Given the description of an element on the screen output the (x, y) to click on. 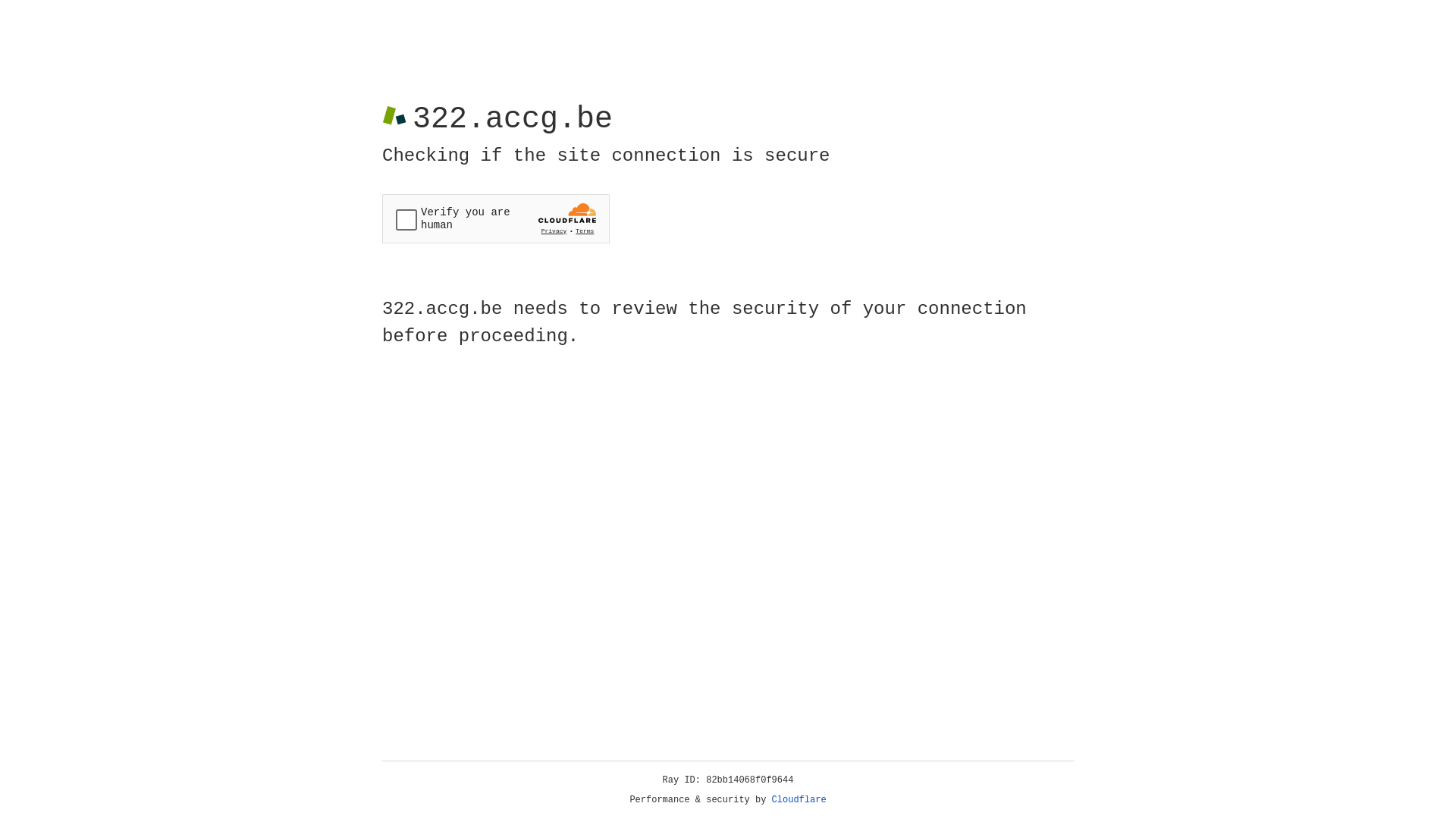
Cloudflare Element type: text (798, 799)
Widget containing a Cloudflare security challenge Element type: hover (495, 218)
